Given the description of an element on the screen output the (x, y) to click on. 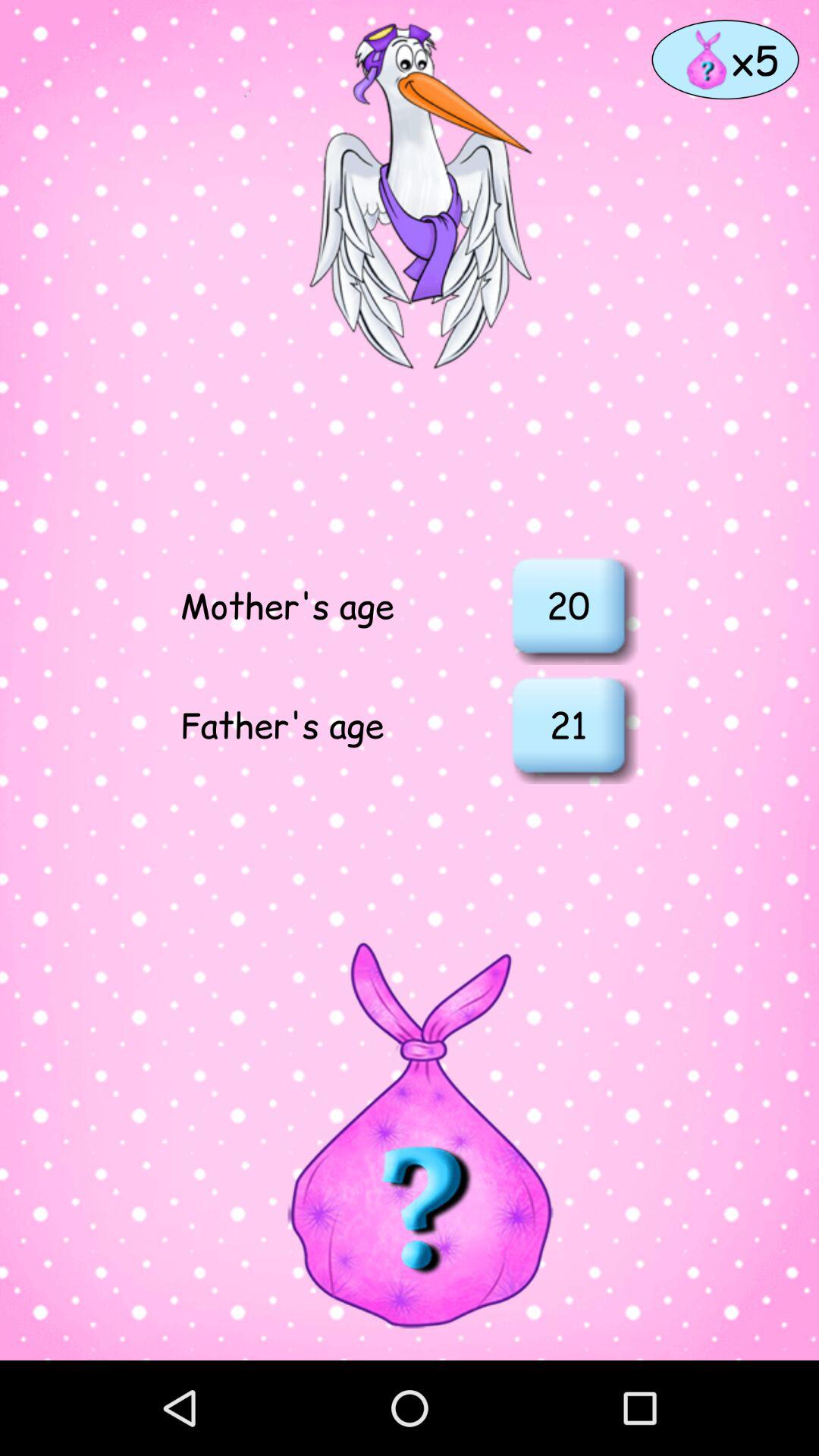
scroll until the 20 (568, 604)
